Given the description of an element on the screen output the (x, y) to click on. 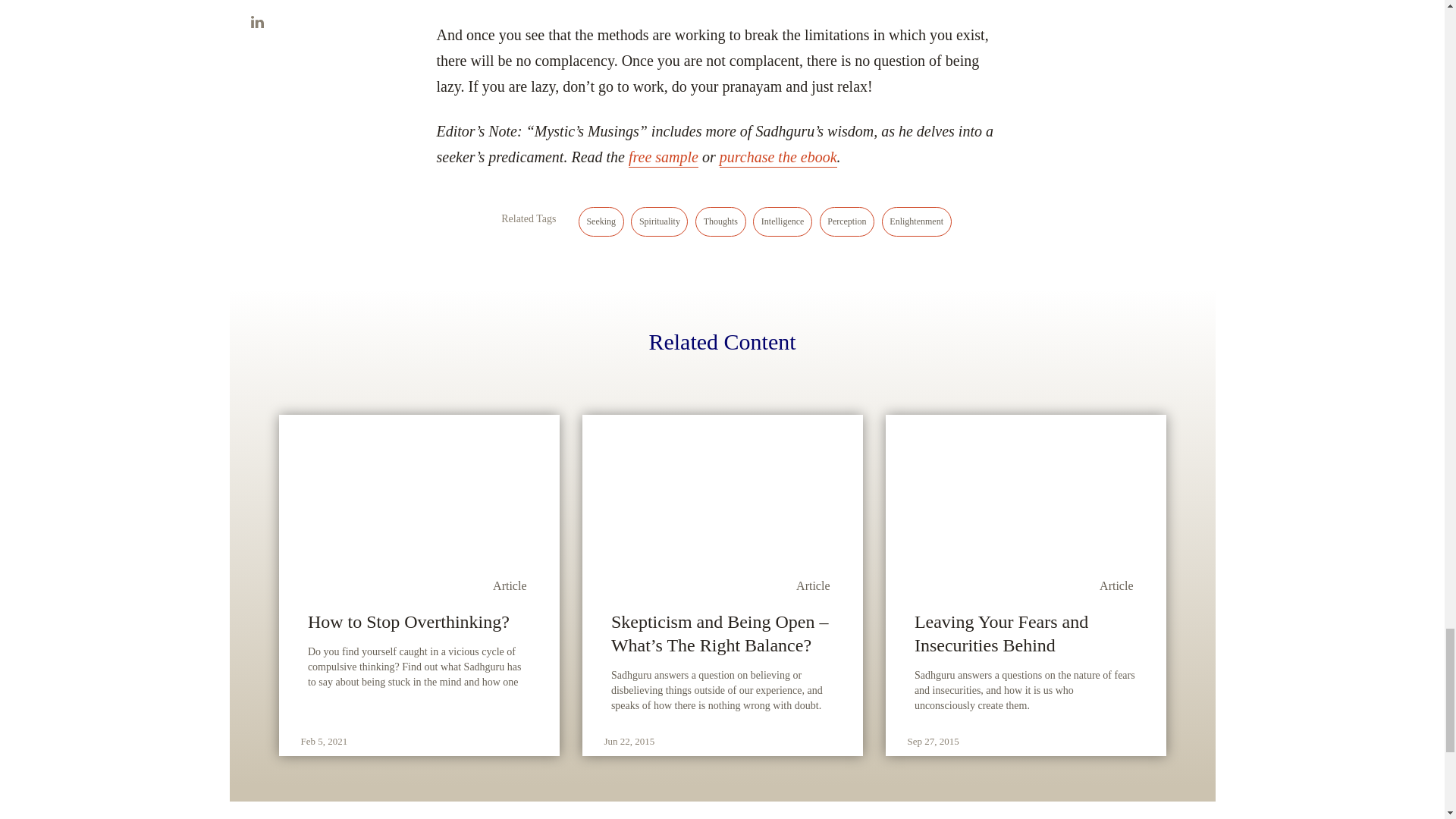
Mystics Musings Free Sample (663, 157)
Mystics Musings Ebook (778, 157)
How to Stop Overthinking? (418, 621)
Leaving Your Fears and Insecurities Behind (1025, 633)
